Given the description of an element on the screen output the (x, y) to click on. 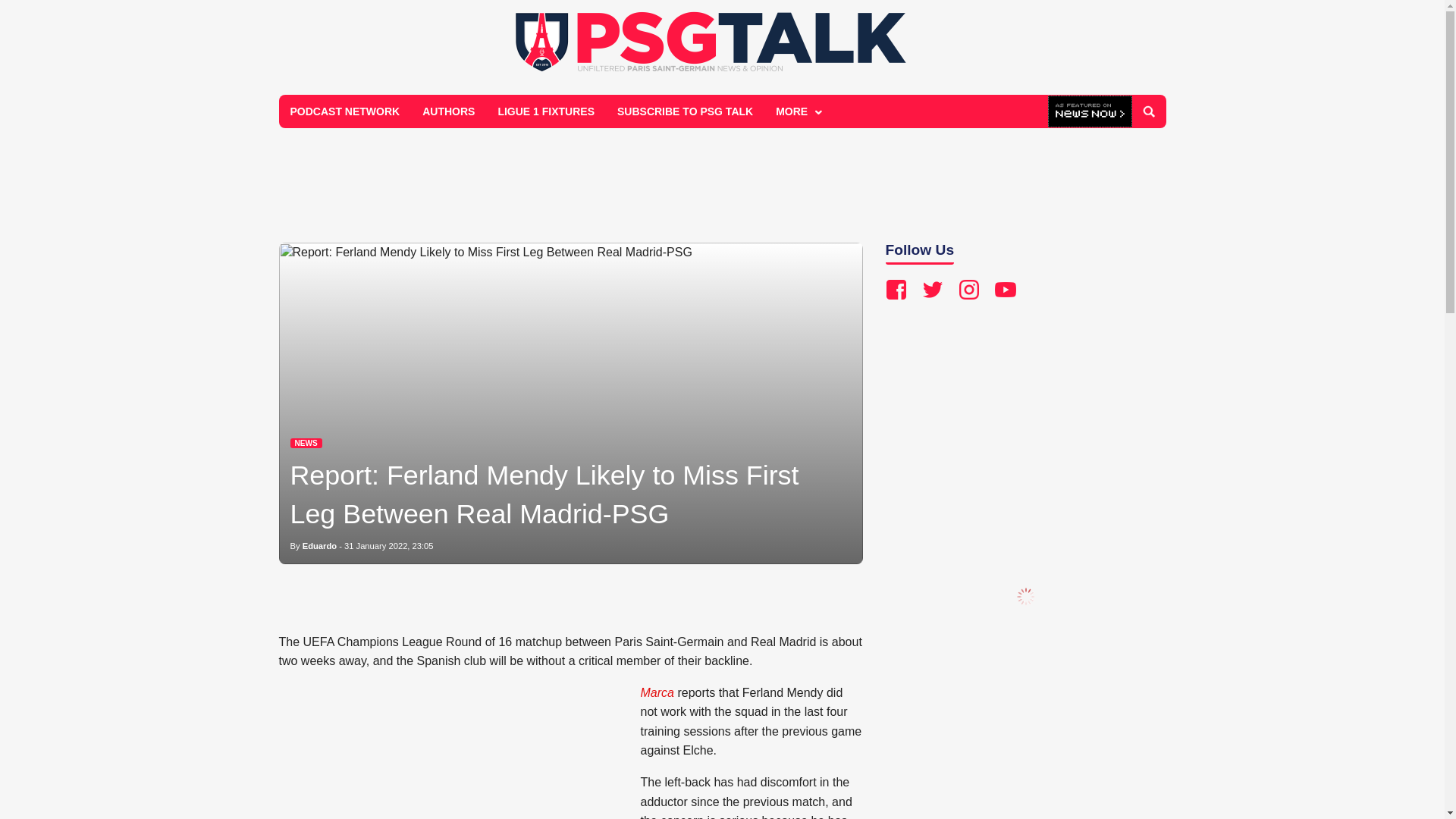
Marca (656, 692)
NEWS (305, 442)
Latest News News (305, 442)
Search (1147, 111)
SUBSCRIBE TO PSG TALK (684, 111)
31 January 2022, 23:05 (388, 545)
LIGUE 1 FIXTURES (545, 111)
MORE (796, 111)
Eduardo (319, 545)
